Given the description of an element on the screen output the (x, y) to click on. 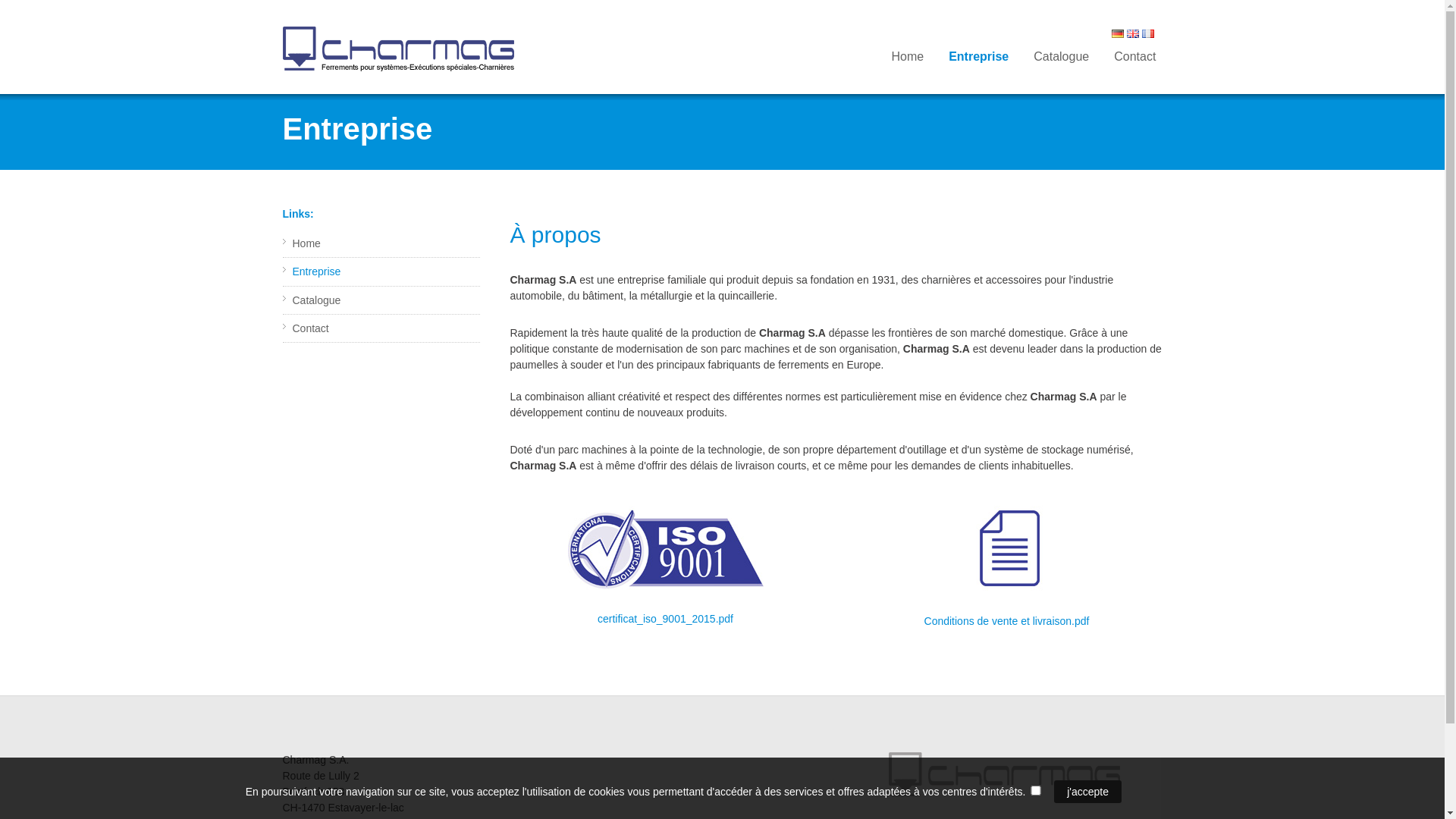
Home Element type: text (306, 243)
j'accepte Element type: text (1087, 791)
certificat_iso_9001_2015.pdf Element type: text (665, 618)
Home Element type: text (907, 56)
Catalogue Element type: text (1061, 56)
Contact Element type: text (310, 328)
Entreprise Element type: text (316, 271)
Conditions de vente et livraison.pdf Element type: text (1006, 621)
Contact Element type: text (1134, 56)
Catalogue Element type: text (316, 300)
Entreprise Element type: text (978, 56)
